Given the description of an element on the screen output the (x, y) to click on. 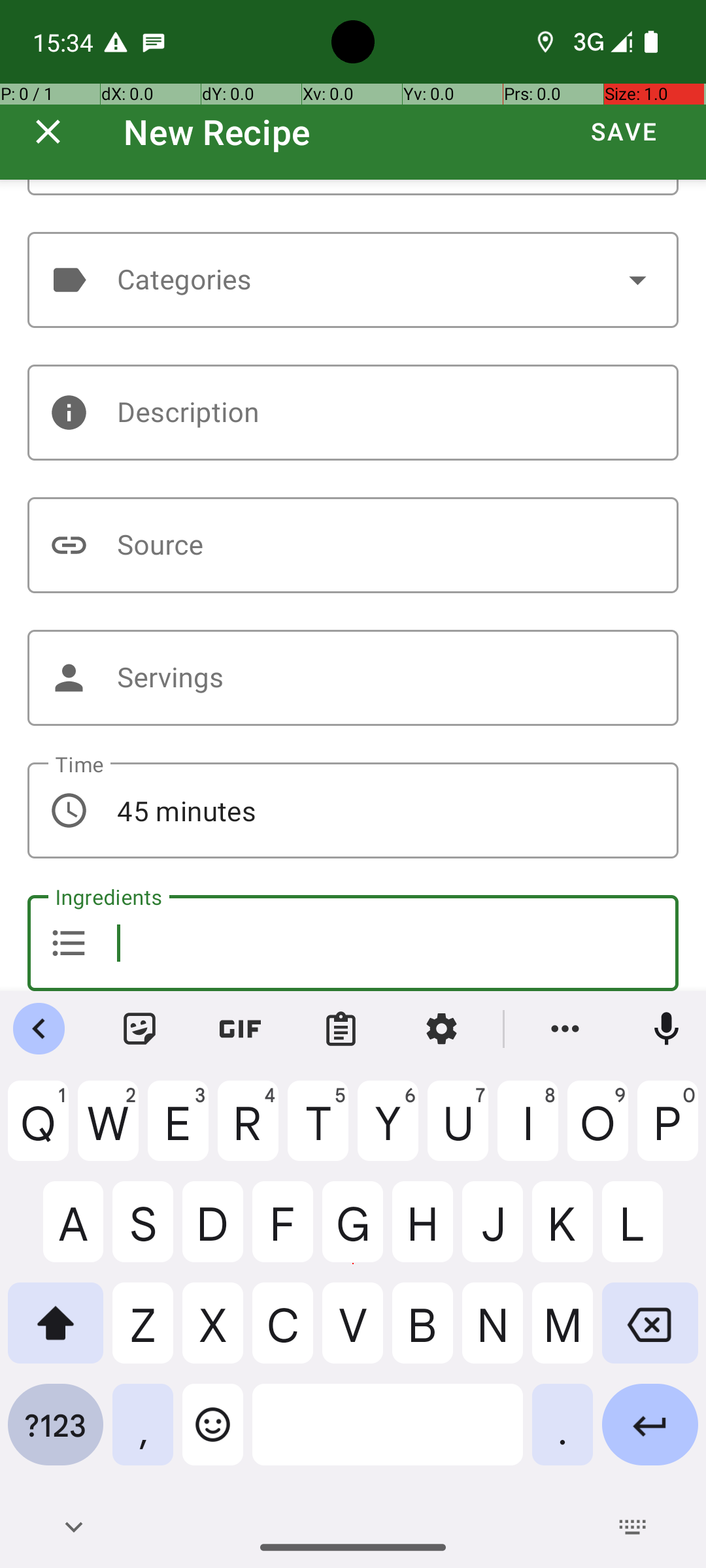
45 minutes Element type: android.widget.EditText (352, 810)
